Given the description of an element on the screen output the (x, y) to click on. 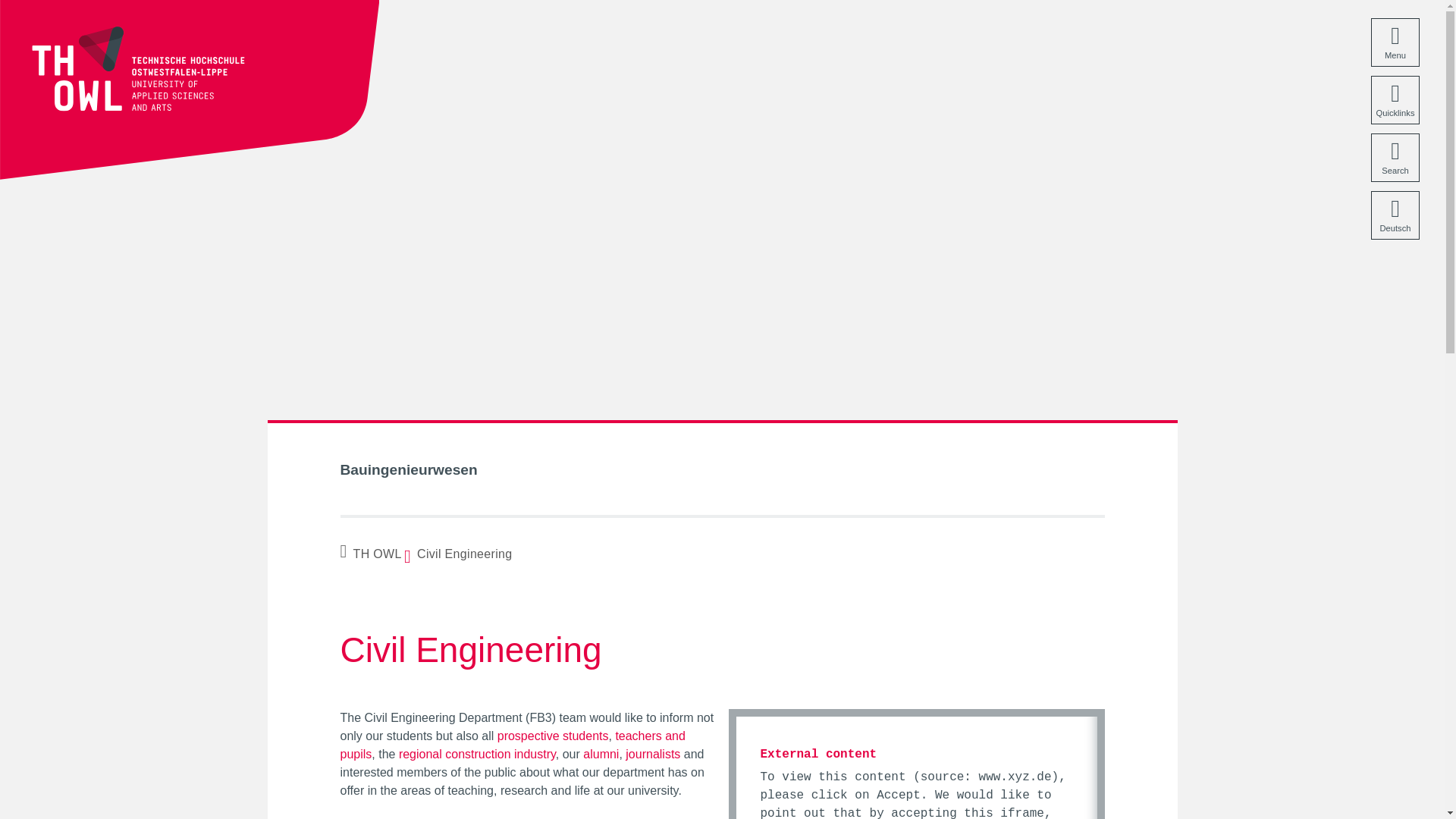
Open Navigation (1395, 42)
alumni (600, 753)
Menu (1395, 42)
Deutsch (1395, 214)
regional construction industry (477, 753)
Search (1395, 157)
teachers and pupils (511, 744)
Open Search (1395, 157)
Civil Engineering (461, 554)
Open Quicklinks (1395, 100)
